Given the description of an element on the screen output the (x, y) to click on. 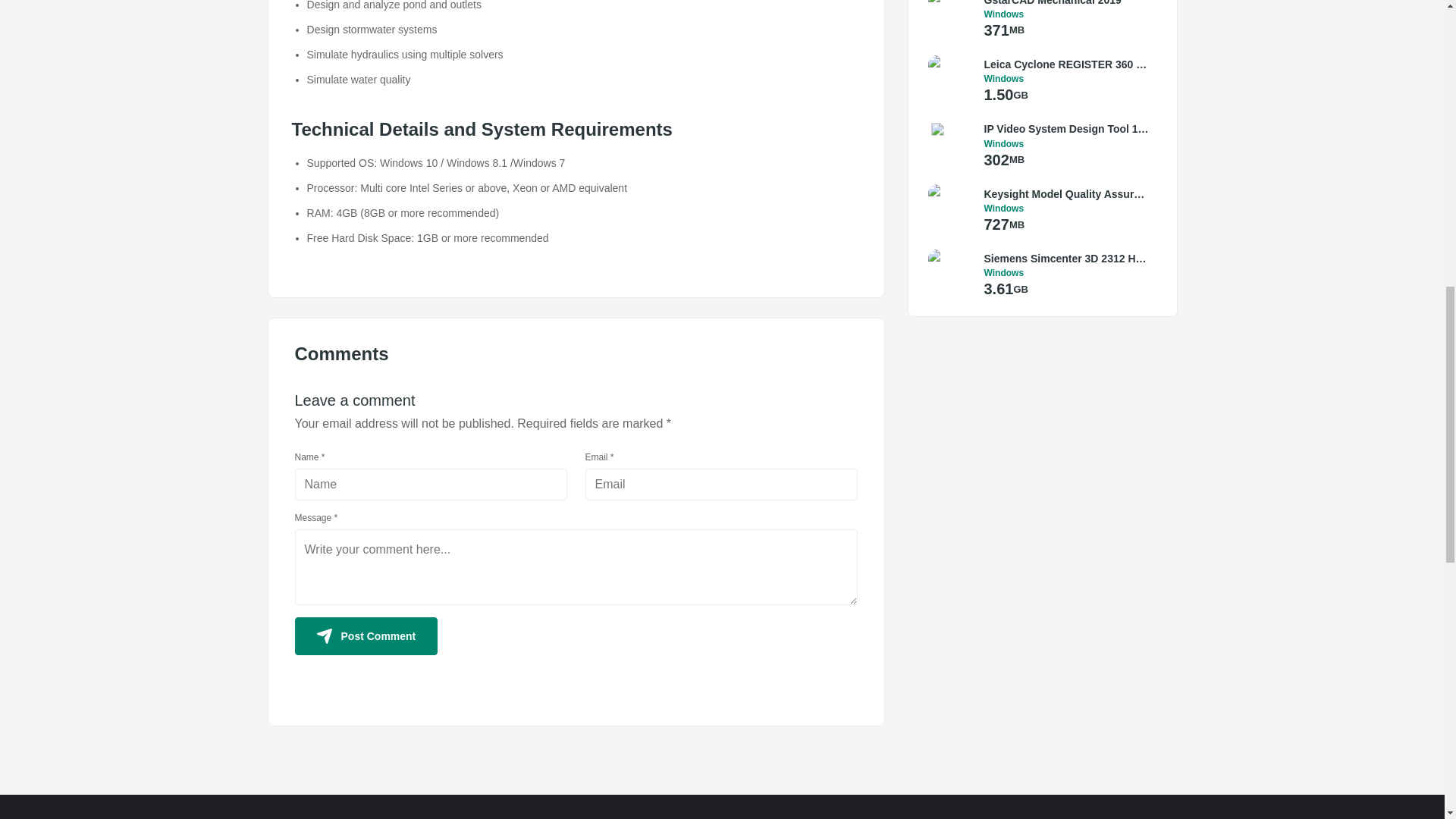
Windows (1066, 78)
Windows (1066, 272)
Siemens Simcenter 3D 2312 HTML Documentation (1066, 258)
GstarCAD Mechanical 2019 (1066, 4)
Windows (1066, 143)
Leica Cyclone REGISTER 360 Plus 2023.0.3 (1066, 64)
IP Video System Design Tool 10 Build 1821 (1066, 128)
Windows (1066, 13)
Post Comment (366, 636)
Windows (1066, 207)
